Given the description of an element on the screen output the (x, y) to click on. 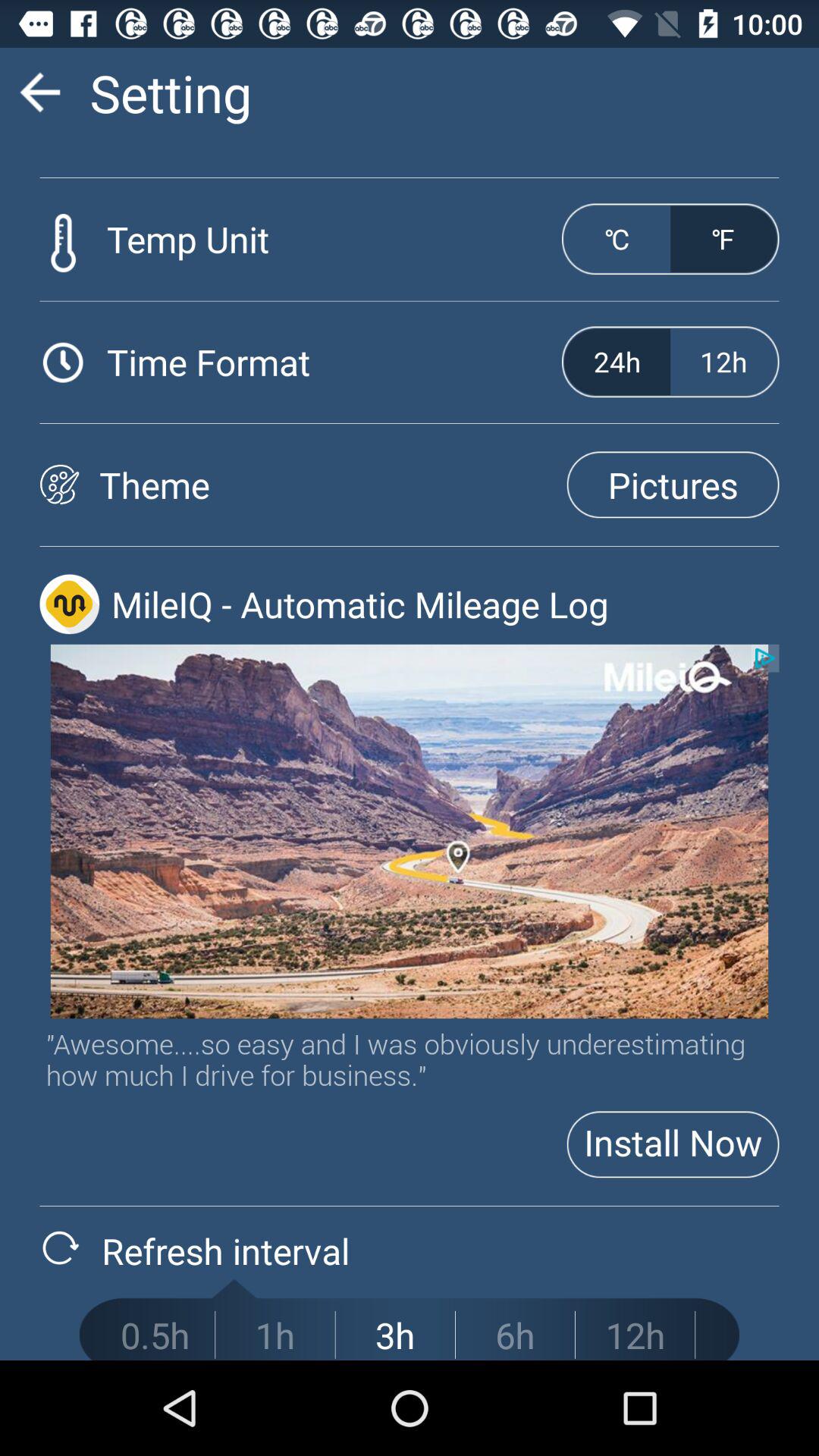
choose the 1h item (274, 1334)
